Given the description of an element on the screen output the (x, y) to click on. 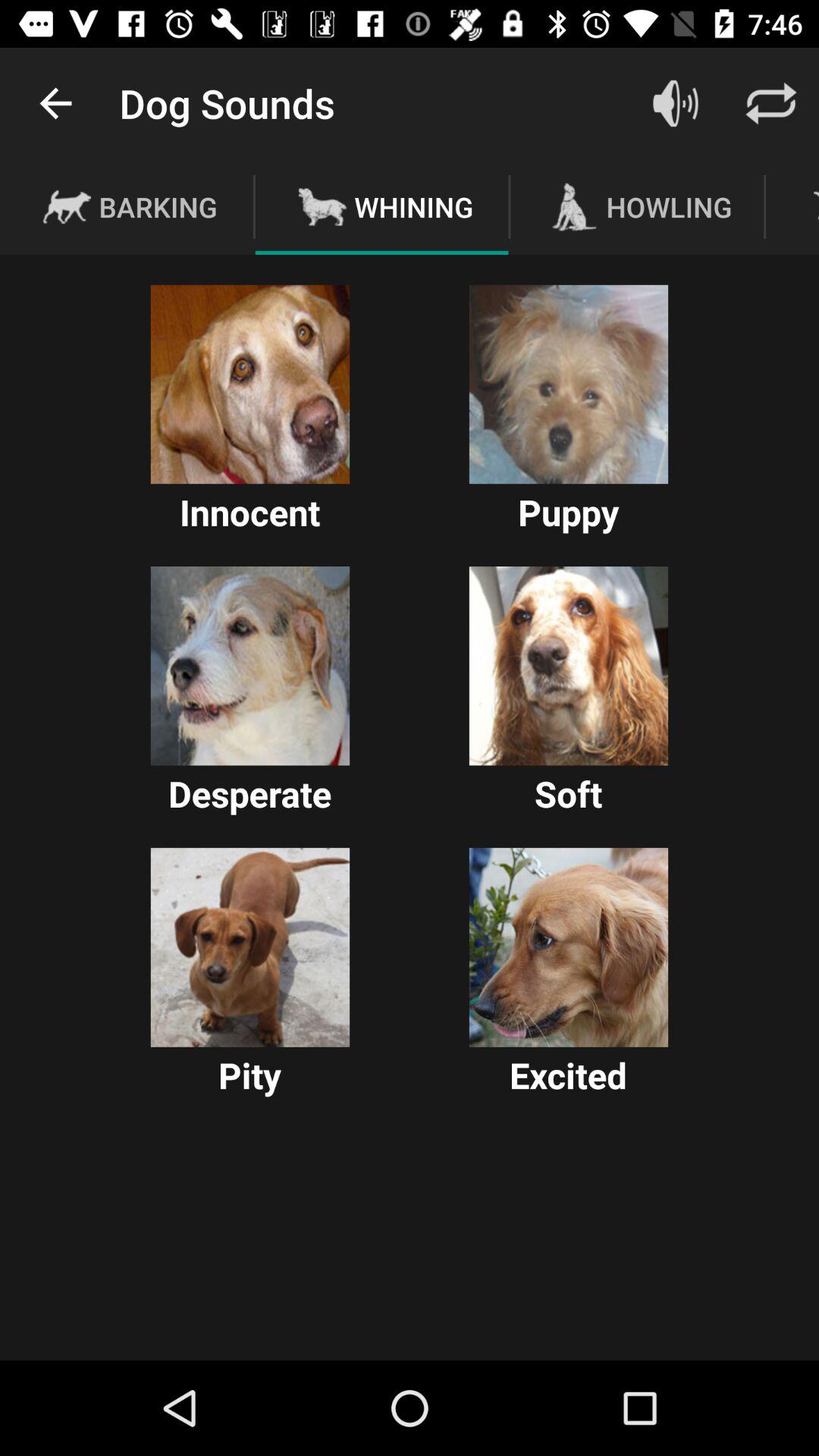
pity dog option (249, 947)
